Given the description of an element on the screen output the (x, y) to click on. 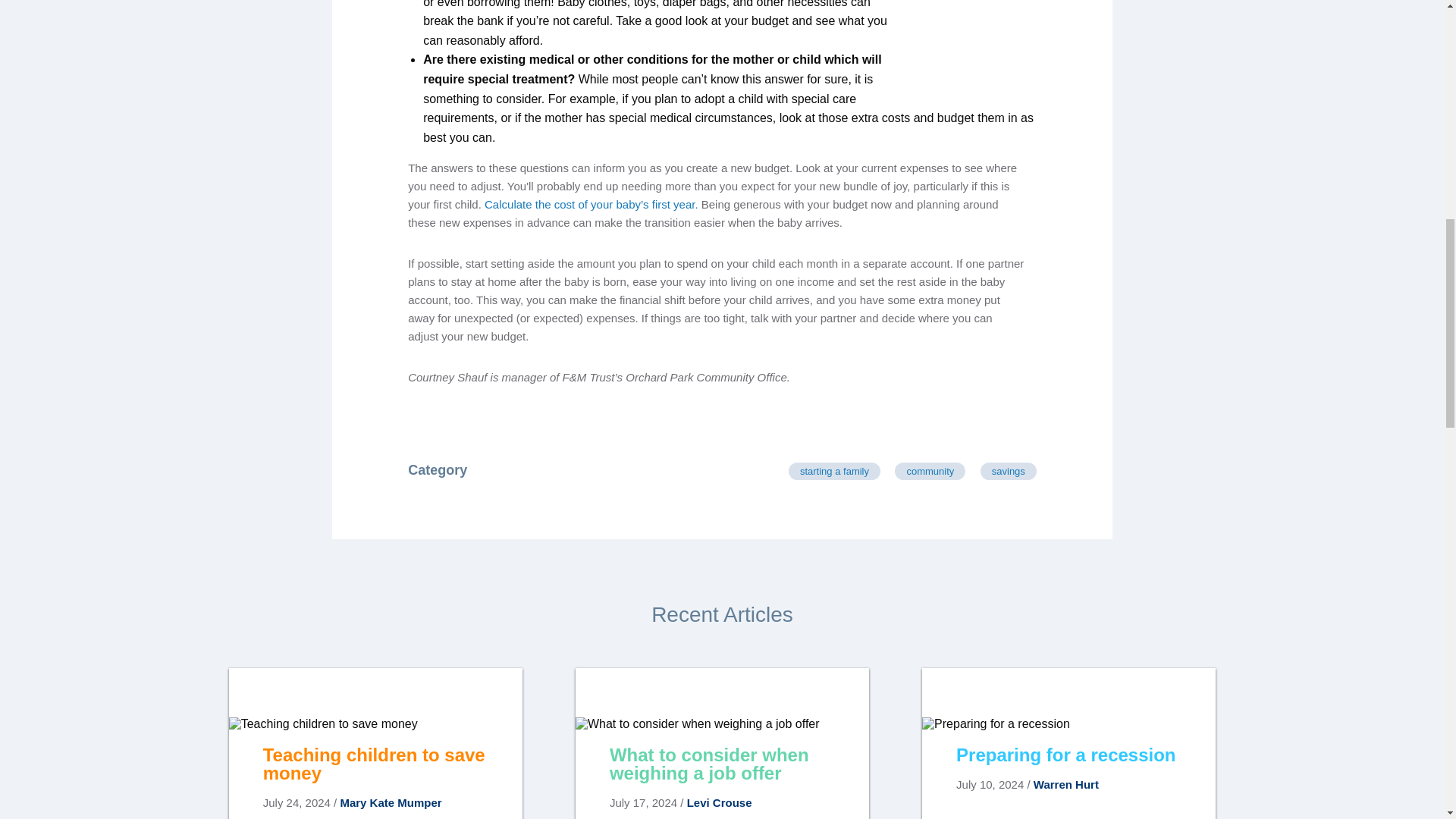
community (930, 470)
What to consider when weighing a job offer (722, 768)
Category (437, 470)
Preparing for a recession (1068, 768)
Teaching children to save money (375, 768)
starting a family (834, 470)
savings (1007, 470)
